Given the description of an element on the screen output the (x, y) to click on. 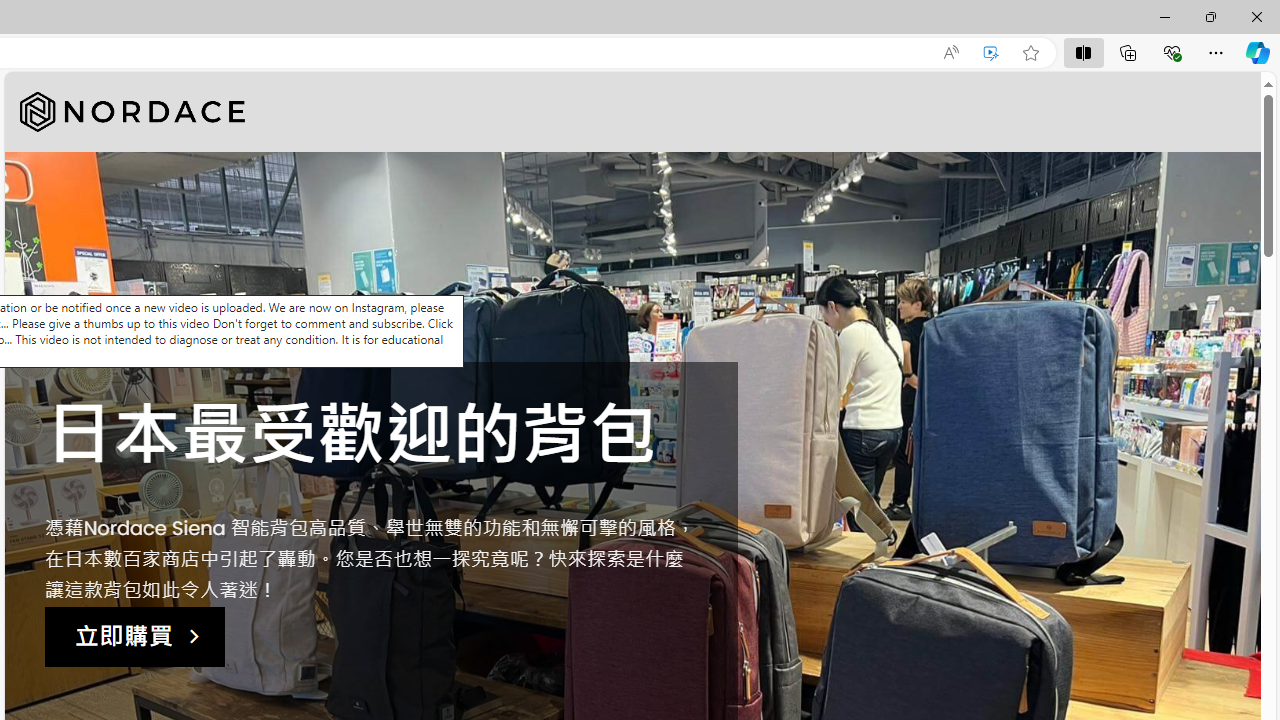
Read aloud this page (Ctrl+Shift+U) (950, 53)
Close (1256, 16)
Add this page to favorites (Ctrl+D) (1030, 53)
Copilot (Ctrl+Shift+.) (1258, 52)
Minimize (1164, 16)
Browser essentials (1171, 52)
Restore (1210, 16)
Enhance video (991, 53)
Collections (1128, 52)
Settings and more (Alt+F) (1215, 52)
Split screen (1083, 52)
Nordace (132, 111)
